Given the description of an element on the screen output the (x, y) to click on. 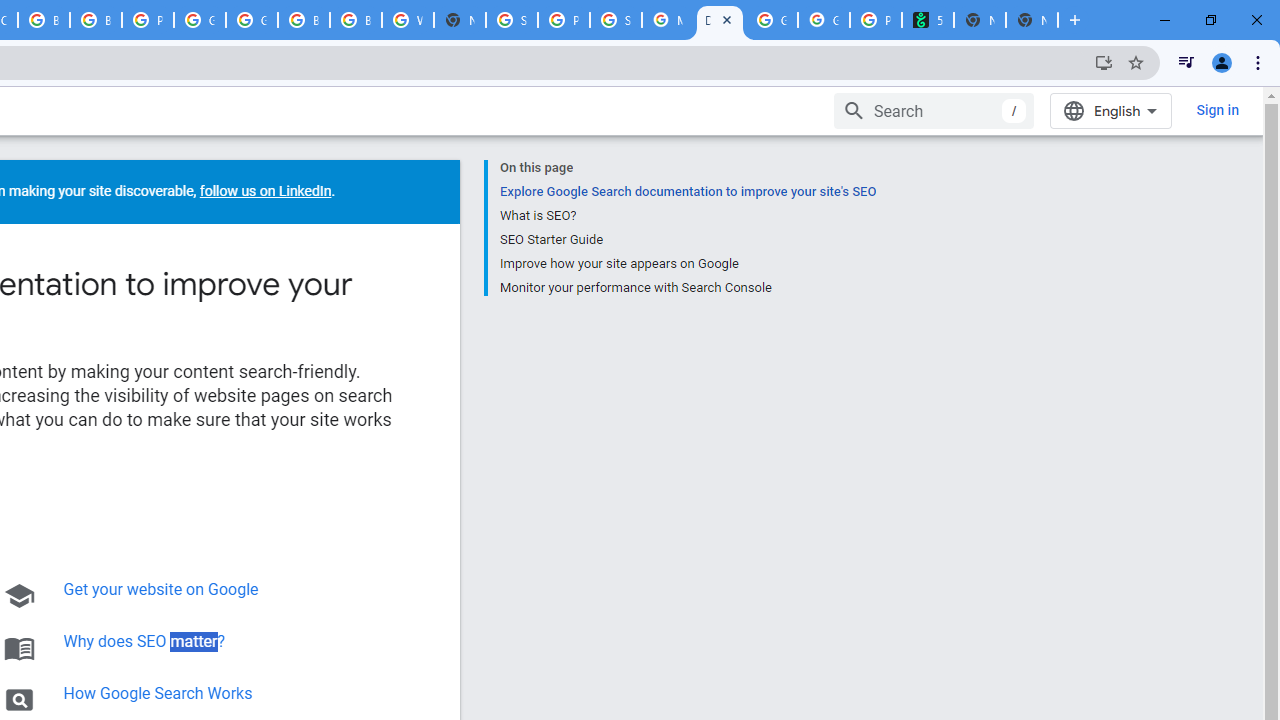
SEO Starter Guide (687, 239)
Google Cloud Platform (200, 20)
Install Google Developers (1103, 62)
How Google Search Works (157, 693)
Google Cloud Platform (251, 20)
Monitor your performance with Search Console (687, 285)
What is SEO? (687, 215)
